Given the description of an element on the screen output the (x, y) to click on. 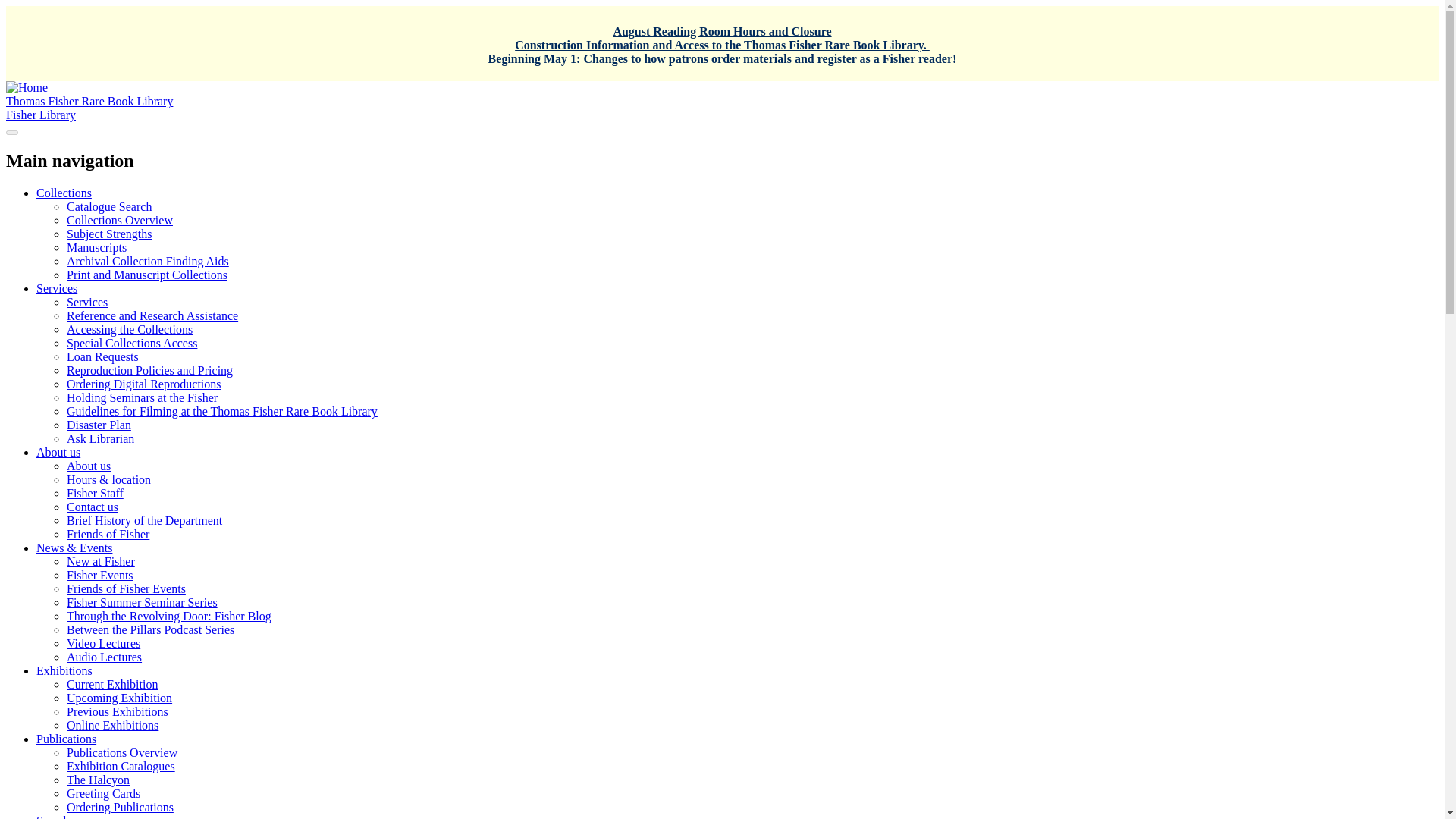
New at Fisher (100, 561)
August Reading Room Hours and Closure (721, 31)
Collections (63, 192)
Accessing the Collections (129, 328)
Fisher Summer Seminar Series (141, 602)
Contact us (91, 506)
Ask Librarian (99, 438)
Reference and Research Assistance (152, 315)
